Given the description of an element on the screen output the (x, y) to click on. 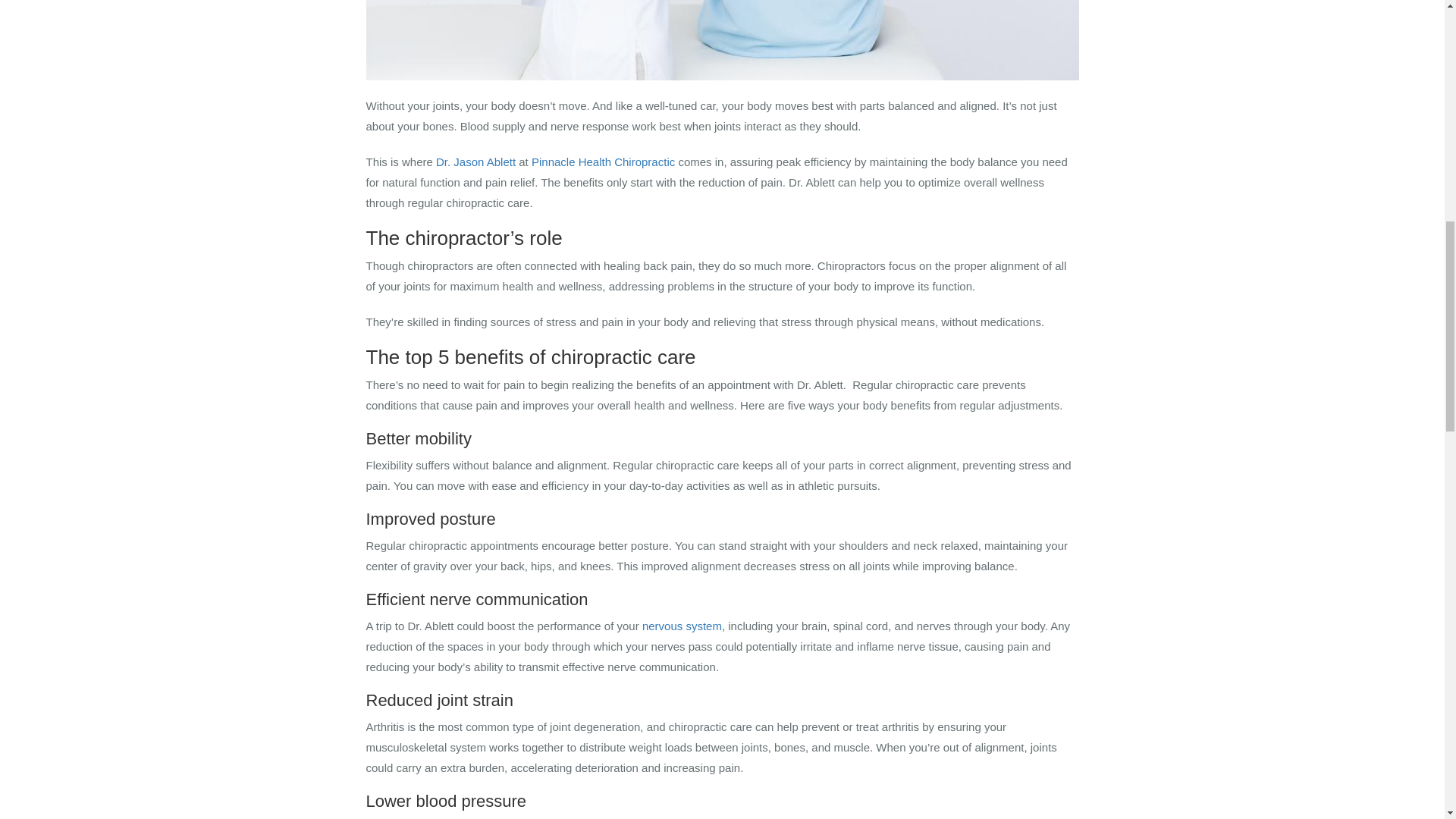
nervous system (682, 625)
Pinnacle Health Chiropractic (603, 161)
Dr. Jason Ablett (475, 161)
